Given the description of an element on the screen output the (x, y) to click on. 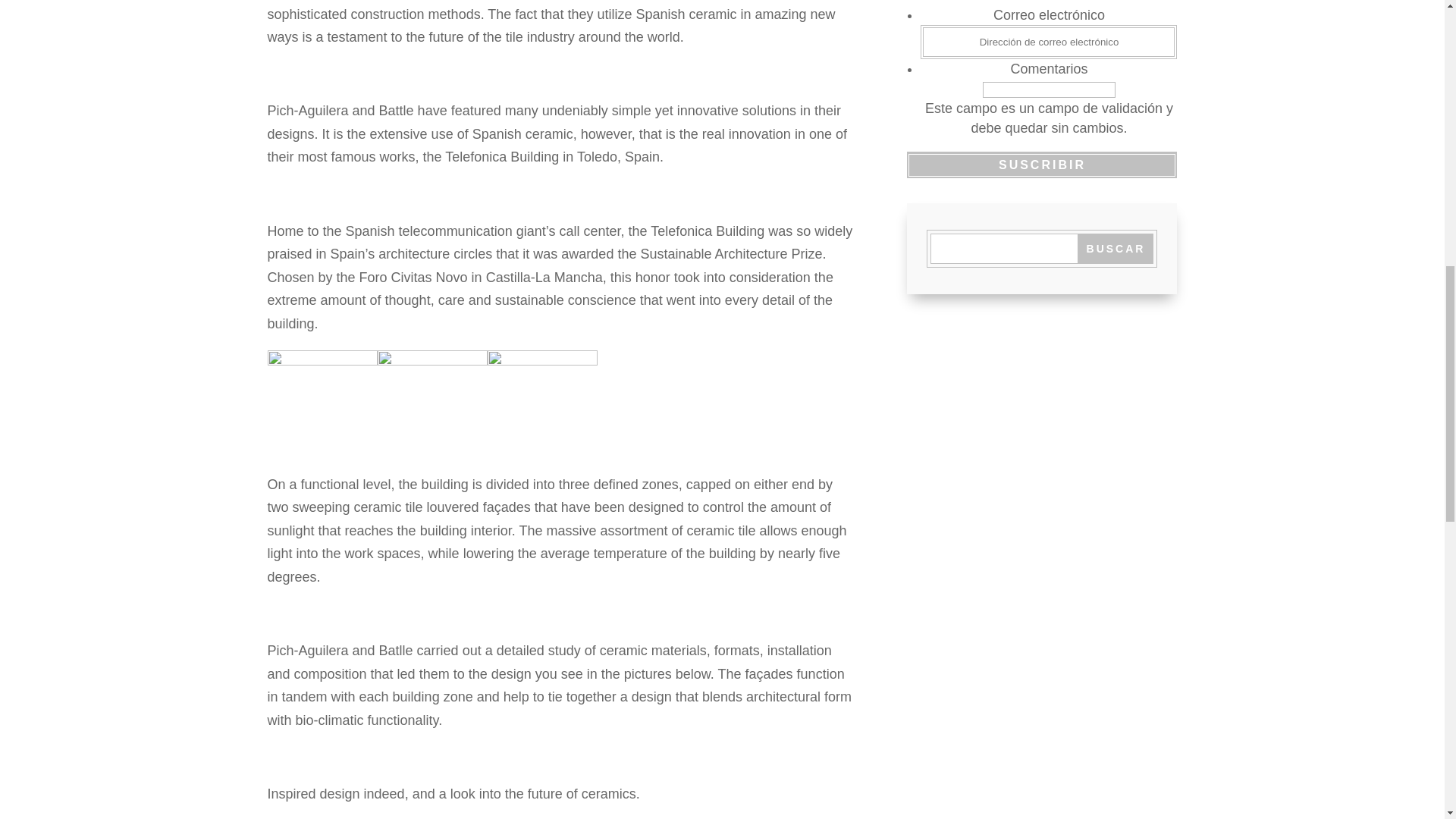
Suscribir (1041, 164)
save3 (541, 404)
sav1 (321, 404)
save2 (432, 404)
Buscar (1115, 248)
